Given the description of an element on the screen output the (x, y) to click on. 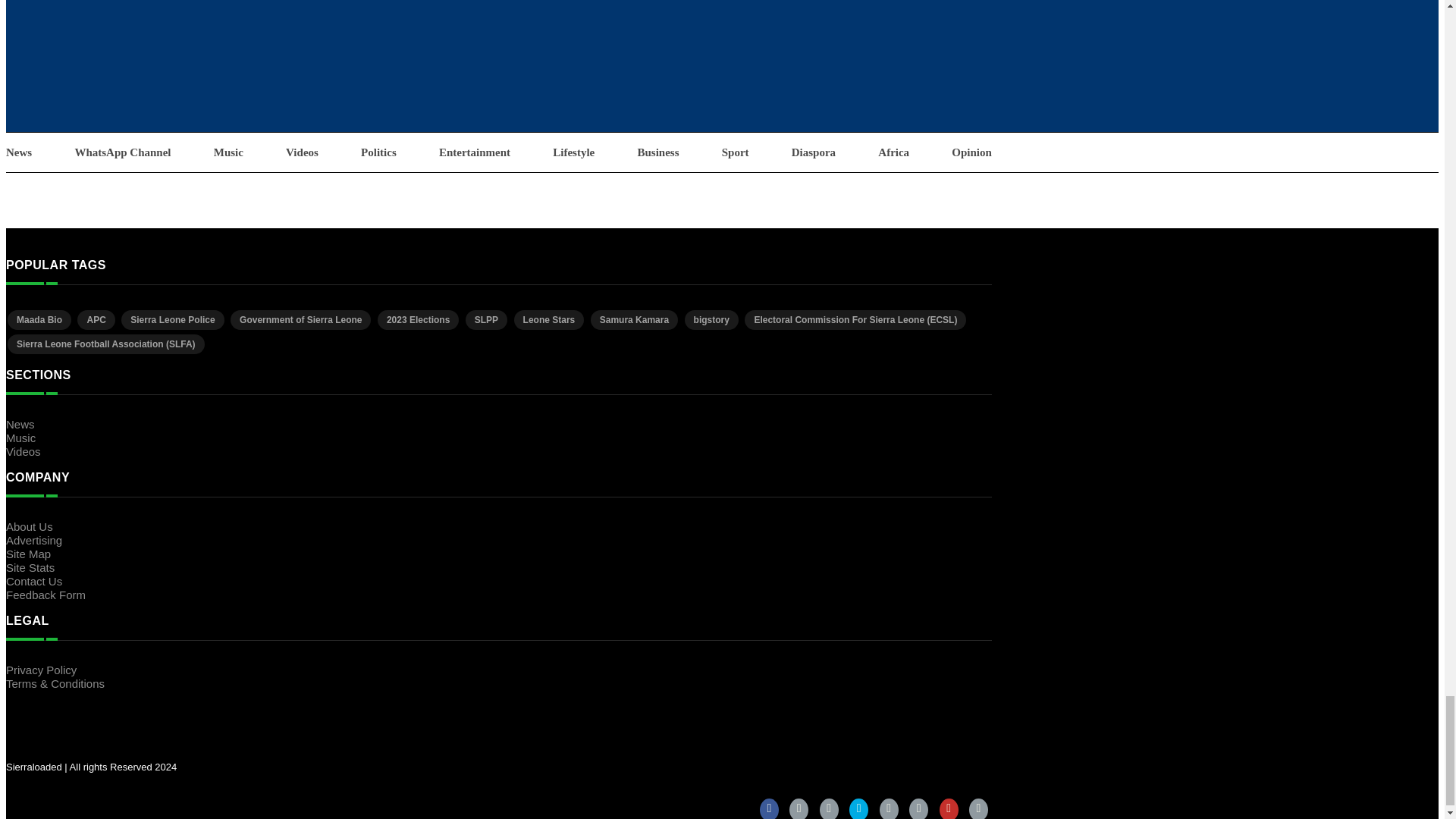
Maada Bio (39, 320)
